Given the description of an element on the screen output the (x, y) to click on. 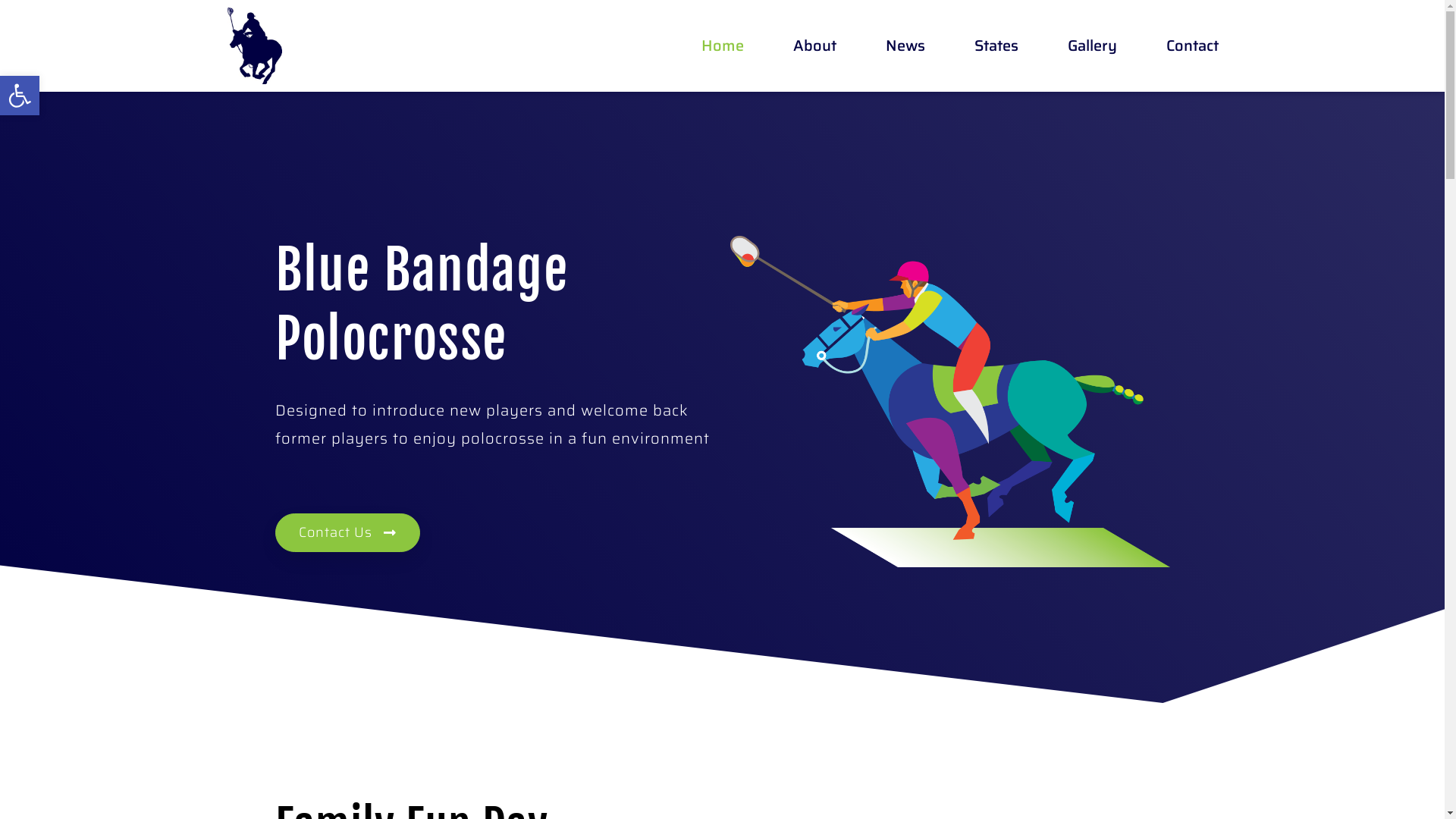
Contact Us Element type: text (346, 532)
About Element type: text (814, 45)
Gallery Element type: text (1092, 45)
News Element type: text (905, 45)
Contact Element type: text (1192, 45)
Open toolbar Element type: text (19, 95)
States Element type: text (996, 45)
Home Element type: text (722, 45)
